Given the description of an element on the screen output the (x, y) to click on. 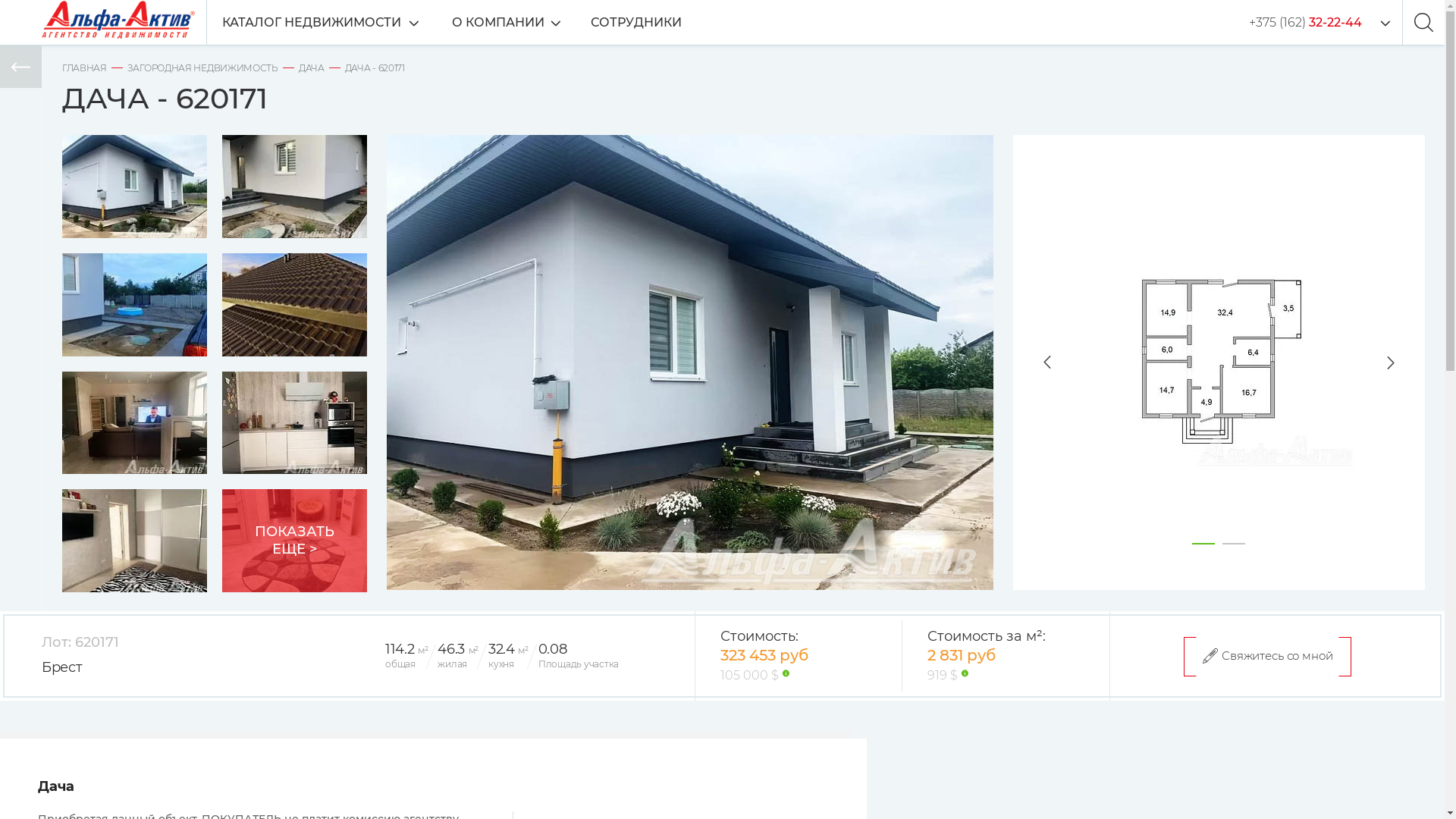
1 Element type: text (1203, 543)
2 Element type: text (1233, 543)
Next Element type: text (1405, 361)
Previous Element type: text (1032, 361)
